Given the description of an element on the screen output the (x, y) to click on. 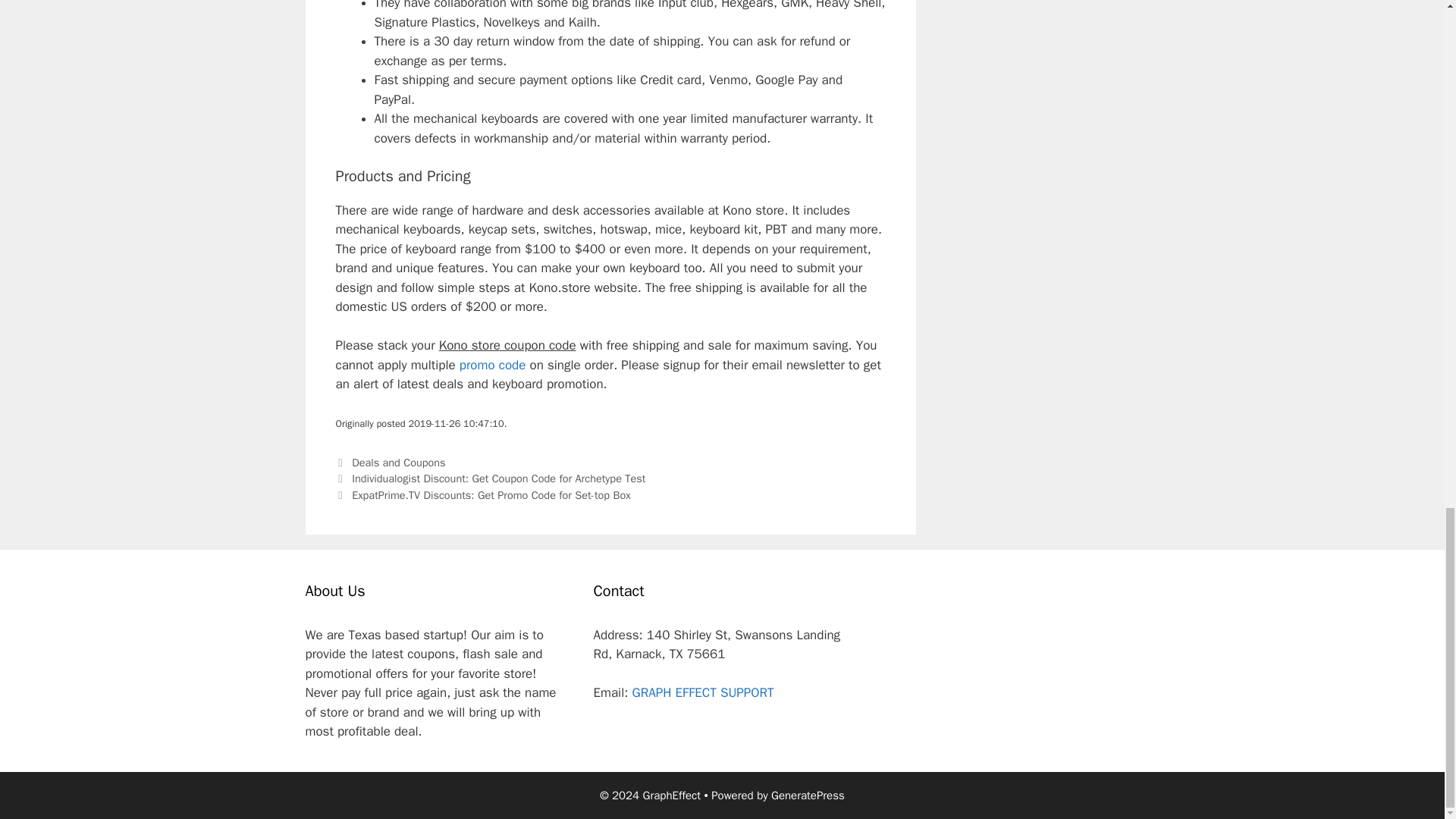
GRAPH EFFECT SUPPORT (702, 692)
GeneratePress (807, 795)
promo code (492, 365)
Next (482, 495)
ExpatPrime.TV Discounts: Get Promo Code for Set-top Box (491, 495)
Previous (489, 478)
Deals and Coupons (398, 462)
Individualogist Discount: Get Coupon Code for Archetype Test (498, 478)
